Given the description of an element on the screen output the (x, y) to click on. 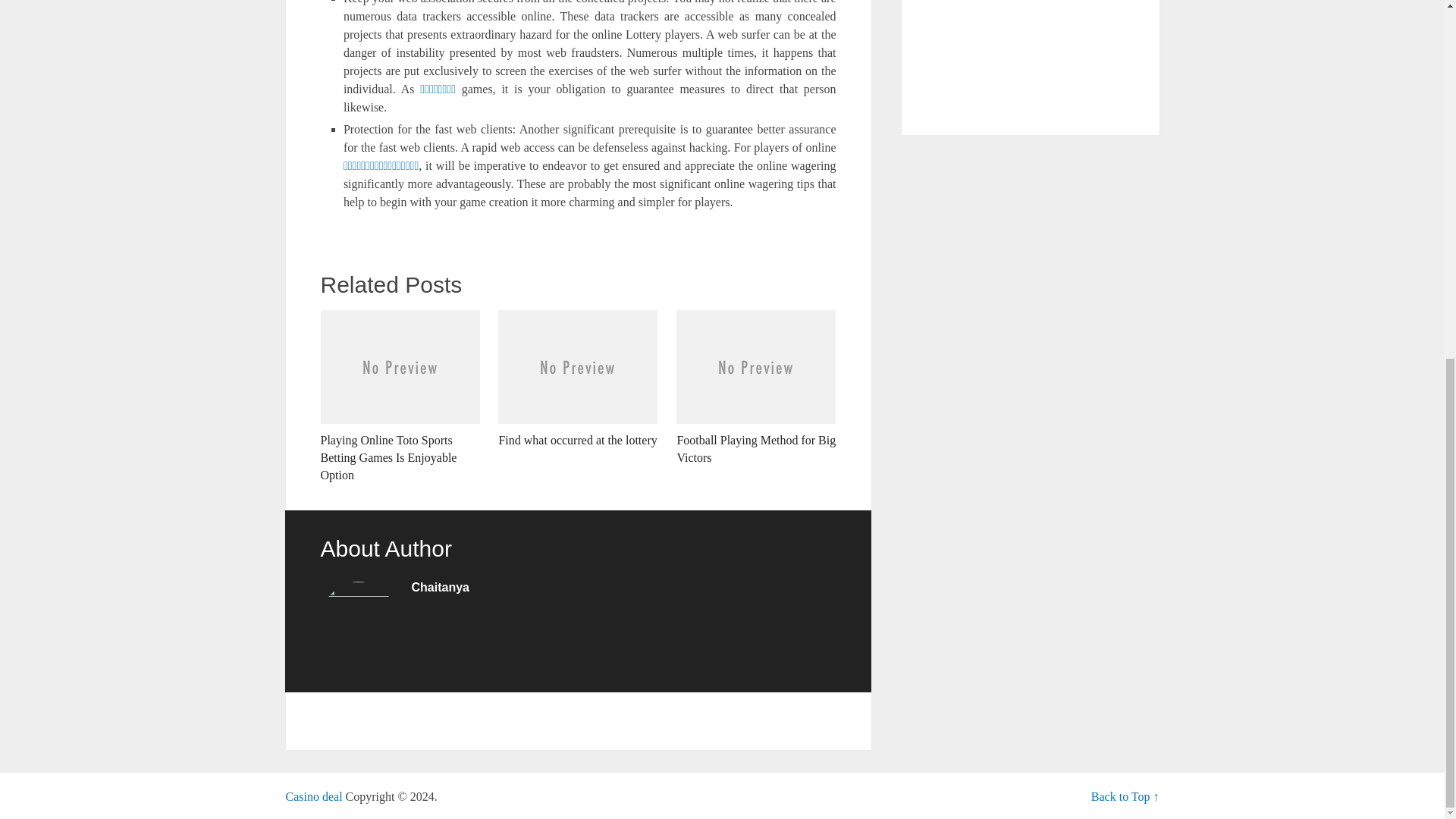
Football Playing Method for Big Victors (756, 387)
Find what occurred at the lottery (577, 378)
Playing Online Toto Sports Betting Games Is Enjoyable Option (399, 396)
Find what occurred at the lottery (577, 378)
Football Playing Method for Big Victors (756, 387)
Playing Online Toto Sports Betting Games Is Enjoyable Option (399, 396)
Casino deal (313, 796)
Casino deal (313, 796)
